Given the description of an element on the screen output the (x, y) to click on. 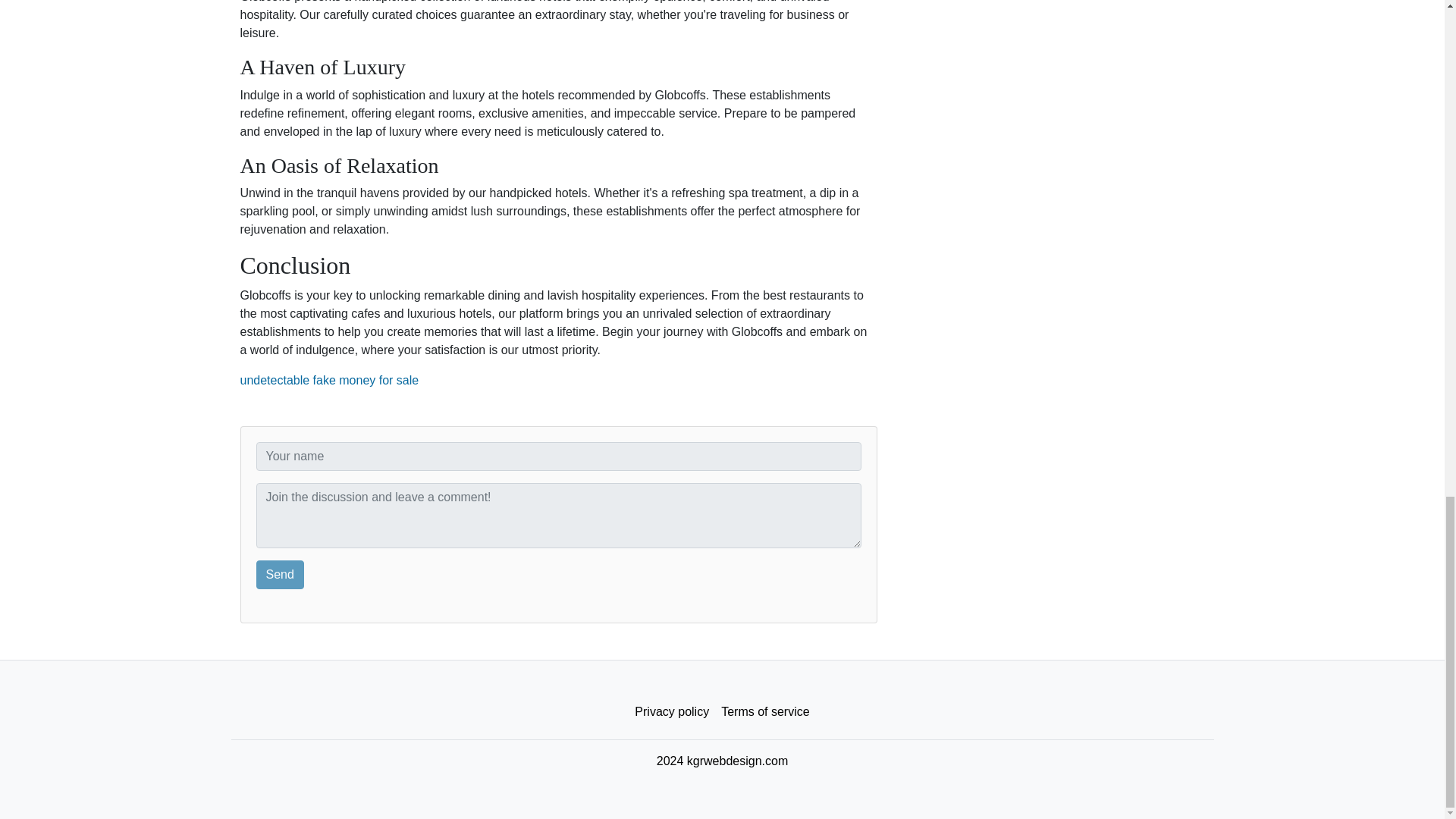
Privacy policy (671, 711)
undetectable fake money for sale (329, 379)
Send (280, 574)
Terms of service (764, 711)
Send (280, 574)
